Given the description of an element on the screen output the (x, y) to click on. 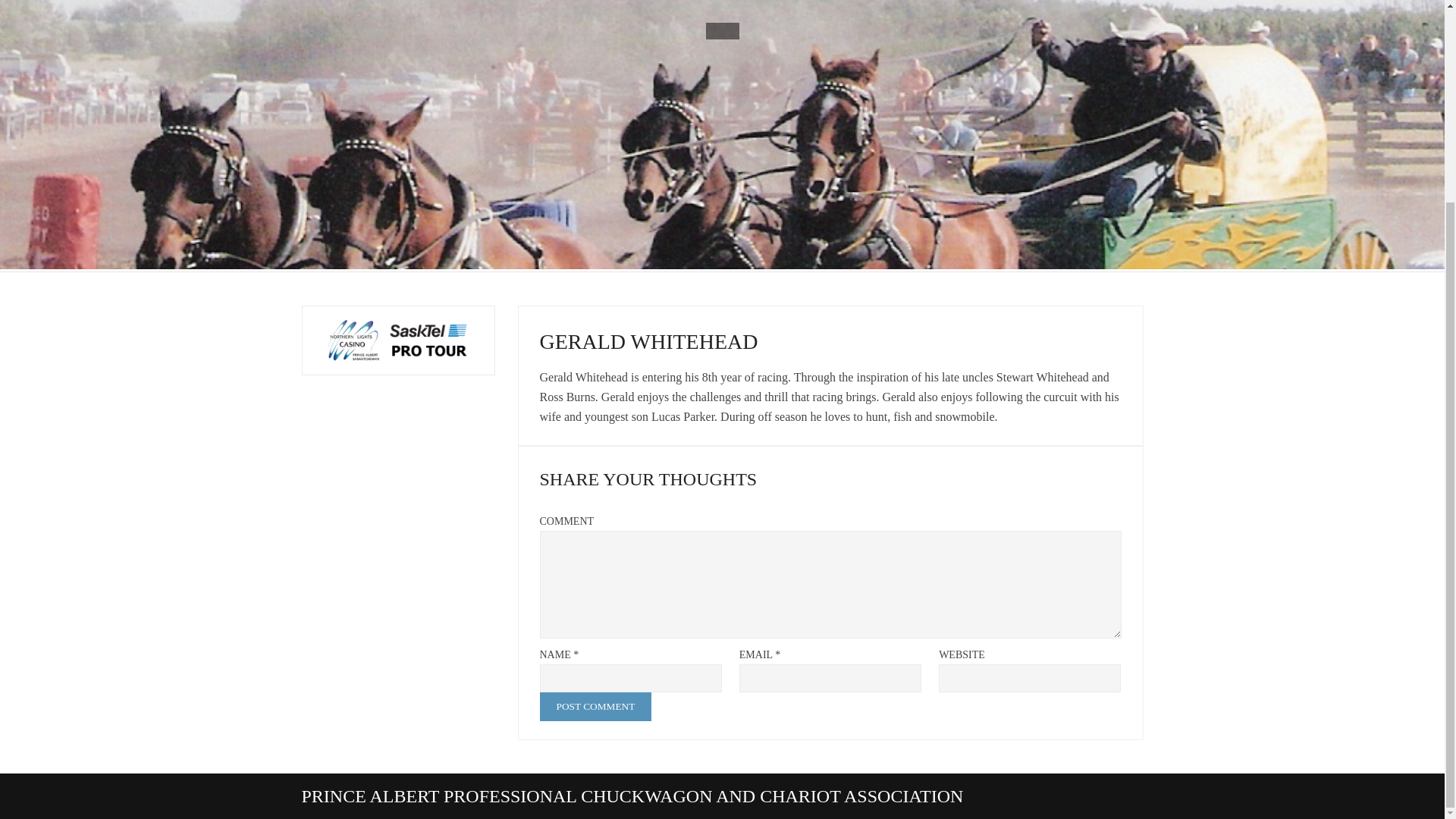
Post Comment (596, 706)
